Given the description of an element on the screen output the (x, y) to click on. 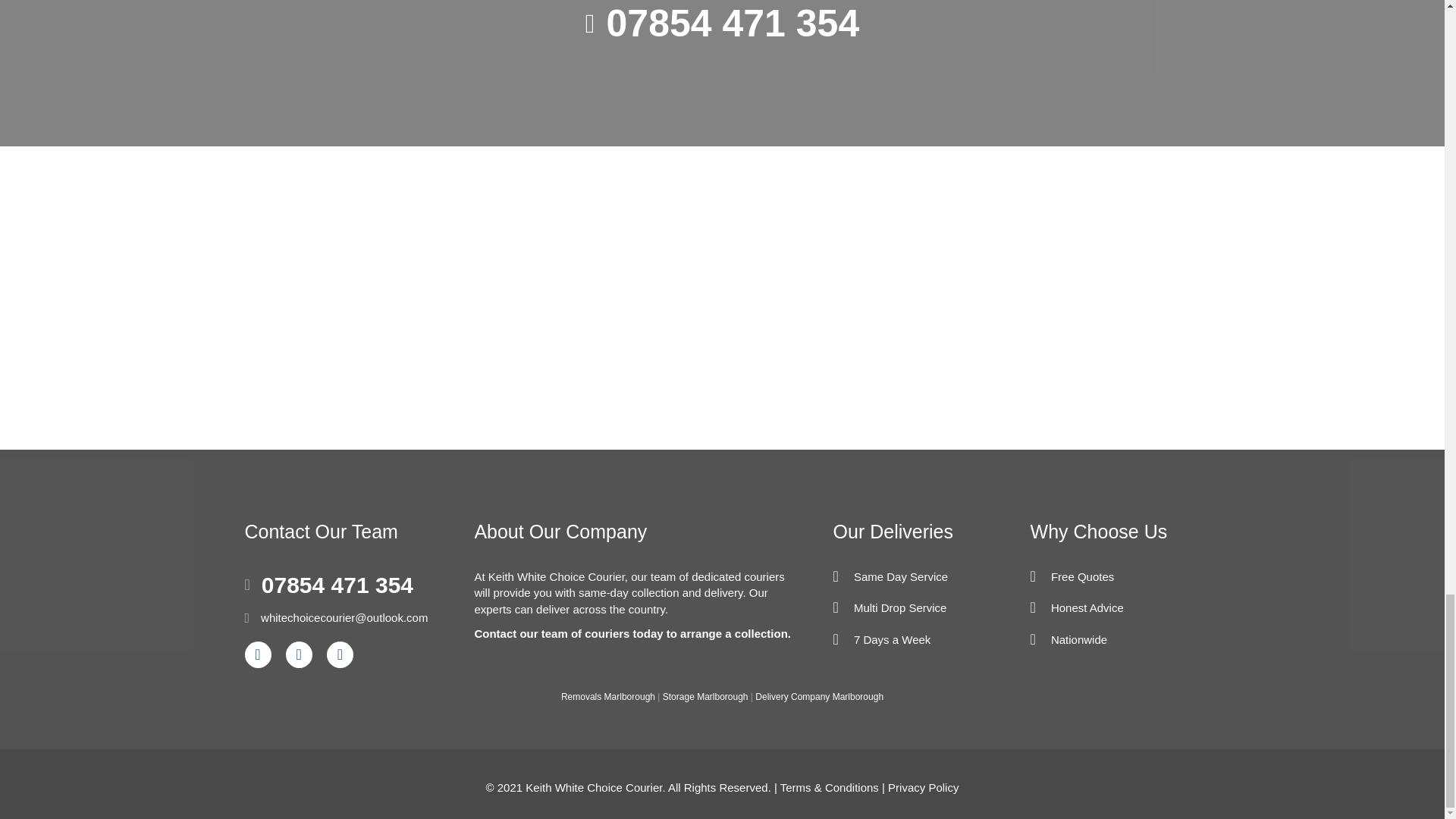
07854 471 354 (733, 25)
Delivery Company Marlborough (819, 696)
Removals Marlborough (607, 696)
Storage Marlborough (705, 696)
Privacy Policy (923, 787)
